Given the description of an element on the screen output the (x, y) to click on. 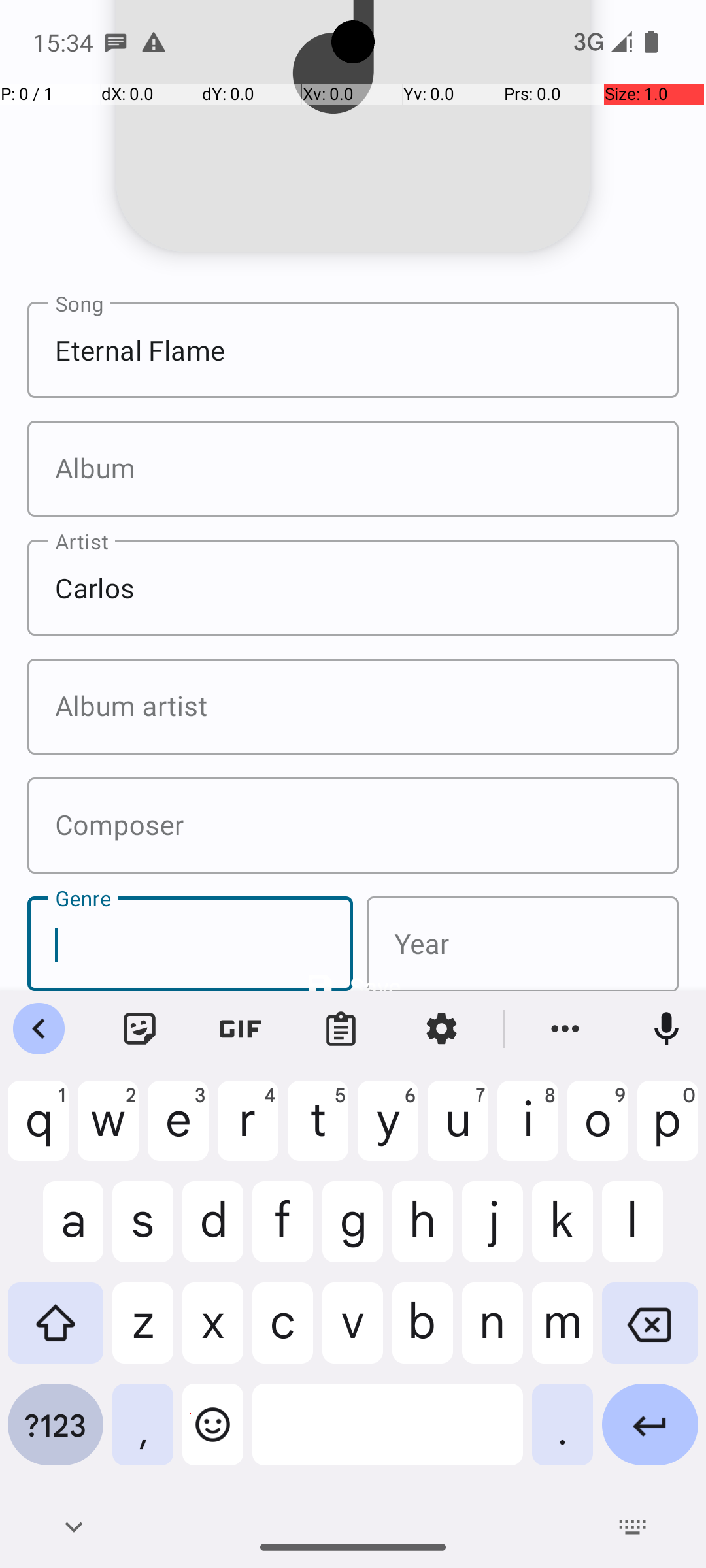
Eternal Flame Element type: android.widget.EditText (352, 349)
Album Element type: android.widget.EditText (352, 468)
Carlos Element type: android.widget.EditText (352, 587)
Album artist Element type: android.widget.EditText (352, 706)
Composer Element type: android.widget.EditText (352, 825)
Rock
 Element type: android.widget.EditText (190, 943)
Year Element type: android.widget.EditText (522, 944)
